Given the description of an element on the screen output the (x, y) to click on. 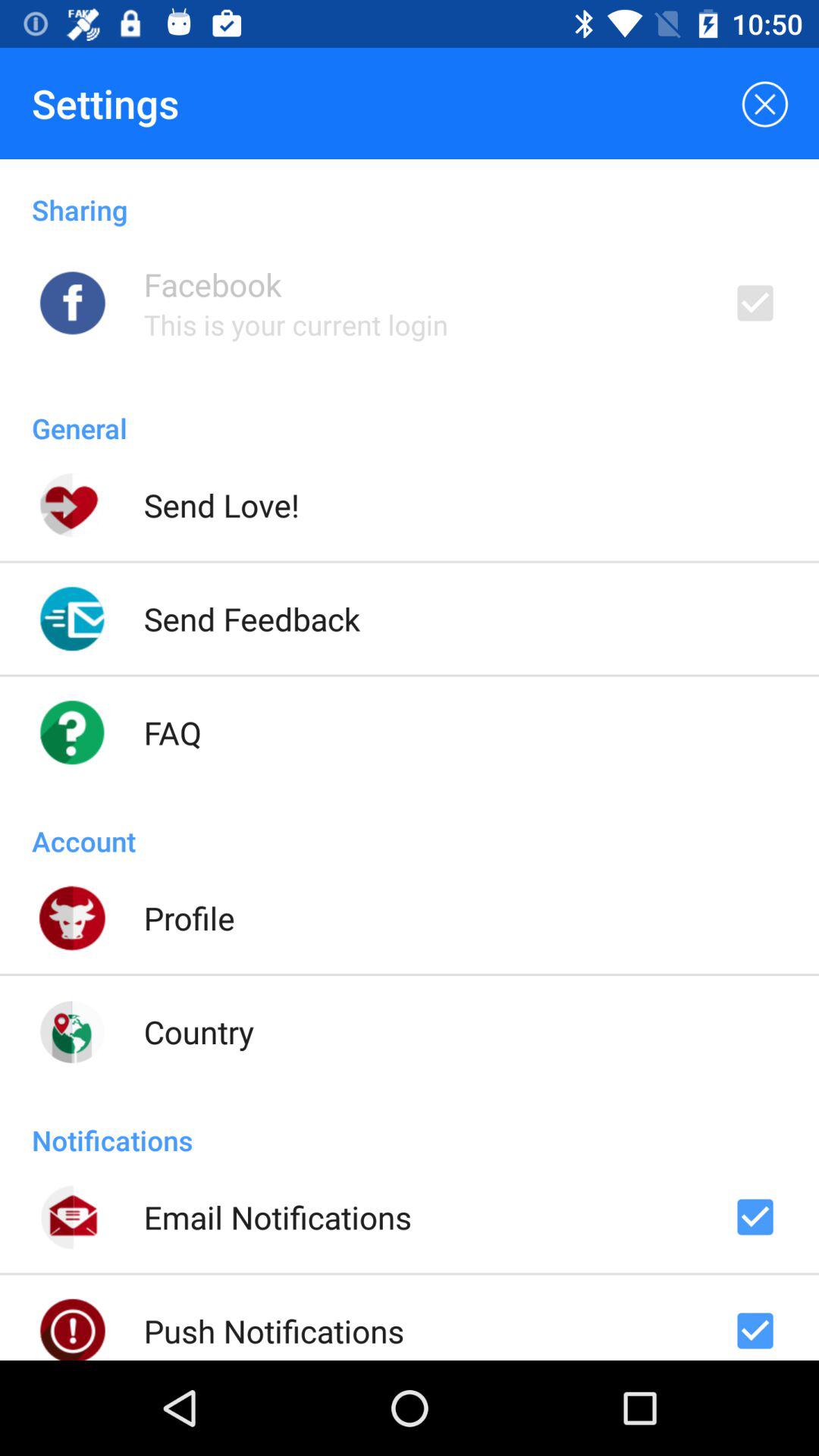
launch the general item (409, 412)
